Given the description of an element on the screen output the (x, y) to click on. 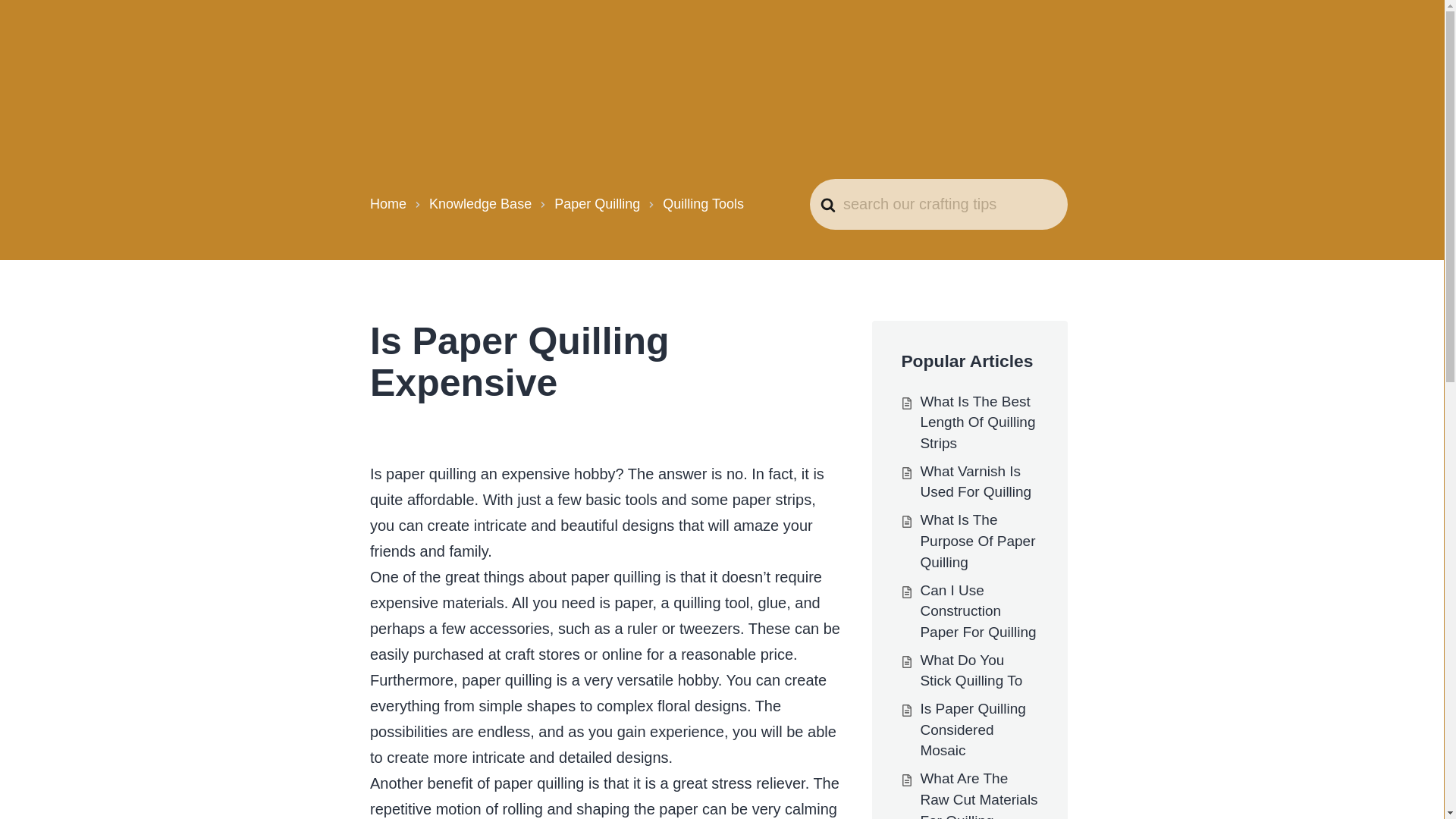
What Is The Best Length Of Quilling Strips (977, 422)
What Are The Raw Cut Materials For Quilling (978, 794)
What Is The Purpose Of Paper Quilling (977, 540)
What Do You Stick Quilling To (971, 670)
Knowledge Base (480, 203)
Home (387, 203)
Paper Quilling (597, 203)
Quilling Tools (703, 203)
What Varnish Is Used For Quilling (975, 481)
Can I Use Construction Paper For Quilling (977, 610)
Is Paper Quilling Considered Mosaic (972, 729)
